Given the description of an element on the screen output the (x, y) to click on. 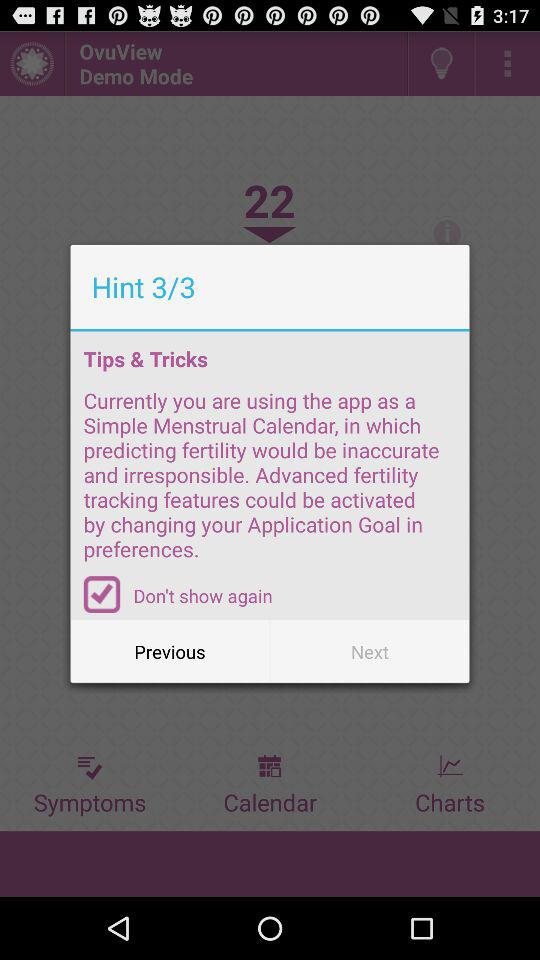
tap icon below tips & tricks item (269, 481)
